Given the description of an element on the screen output the (x, y) to click on. 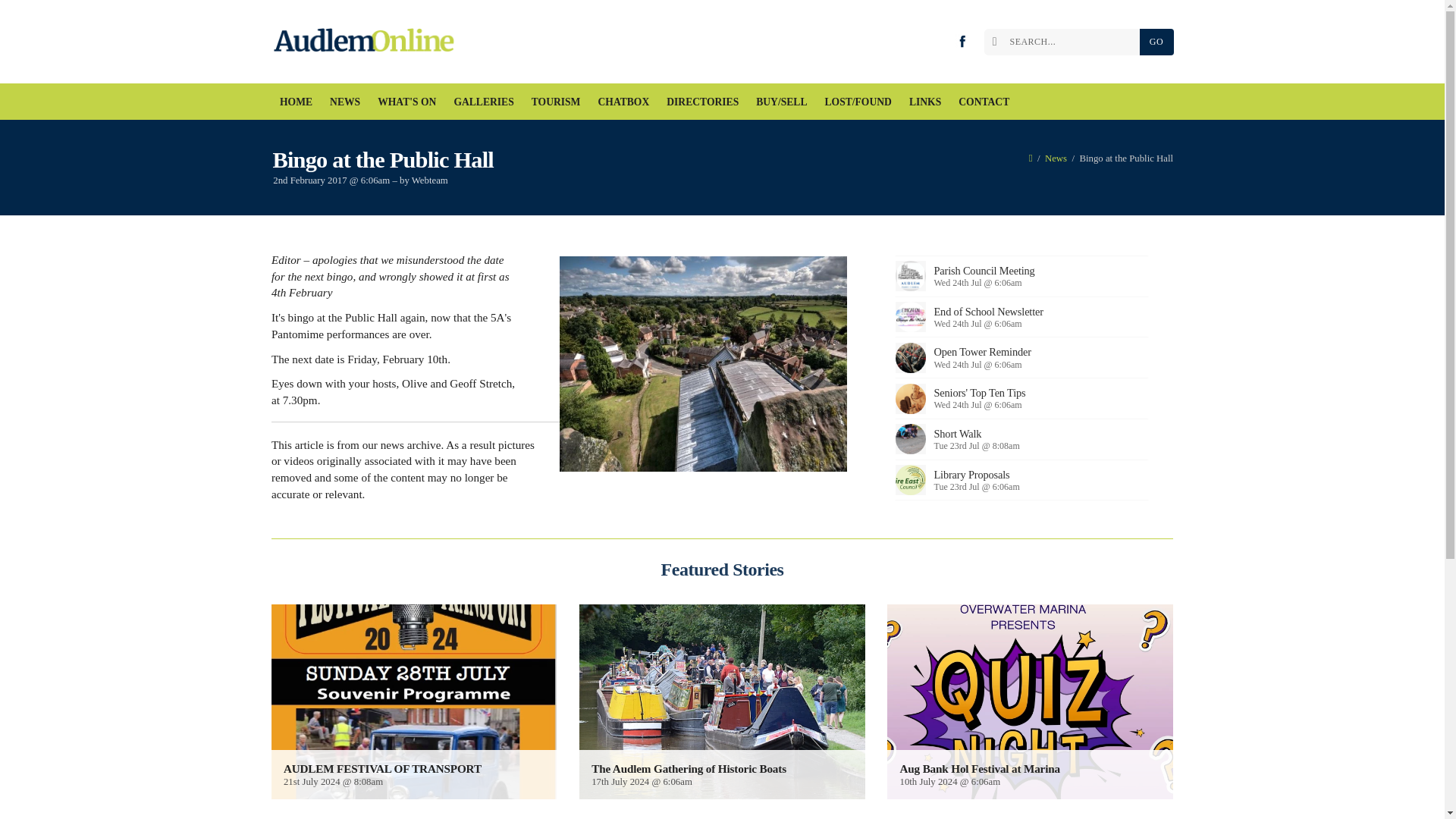
CONTACT (983, 101)
GO (1155, 41)
TOURISM (555, 101)
NEWS (345, 101)
GALLERIES (483, 101)
CHATBOX (623, 101)
DIRECTORIES (703, 101)
HOME (295, 101)
WHAT'S ON (407, 101)
AudlemOnline Home (366, 41)
SEARCH... (1065, 41)
LINKS (924, 101)
Featured Stories (722, 569)
Visit our Facebook Page (962, 40)
